Given the description of an element on the screen output the (x, y) to click on. 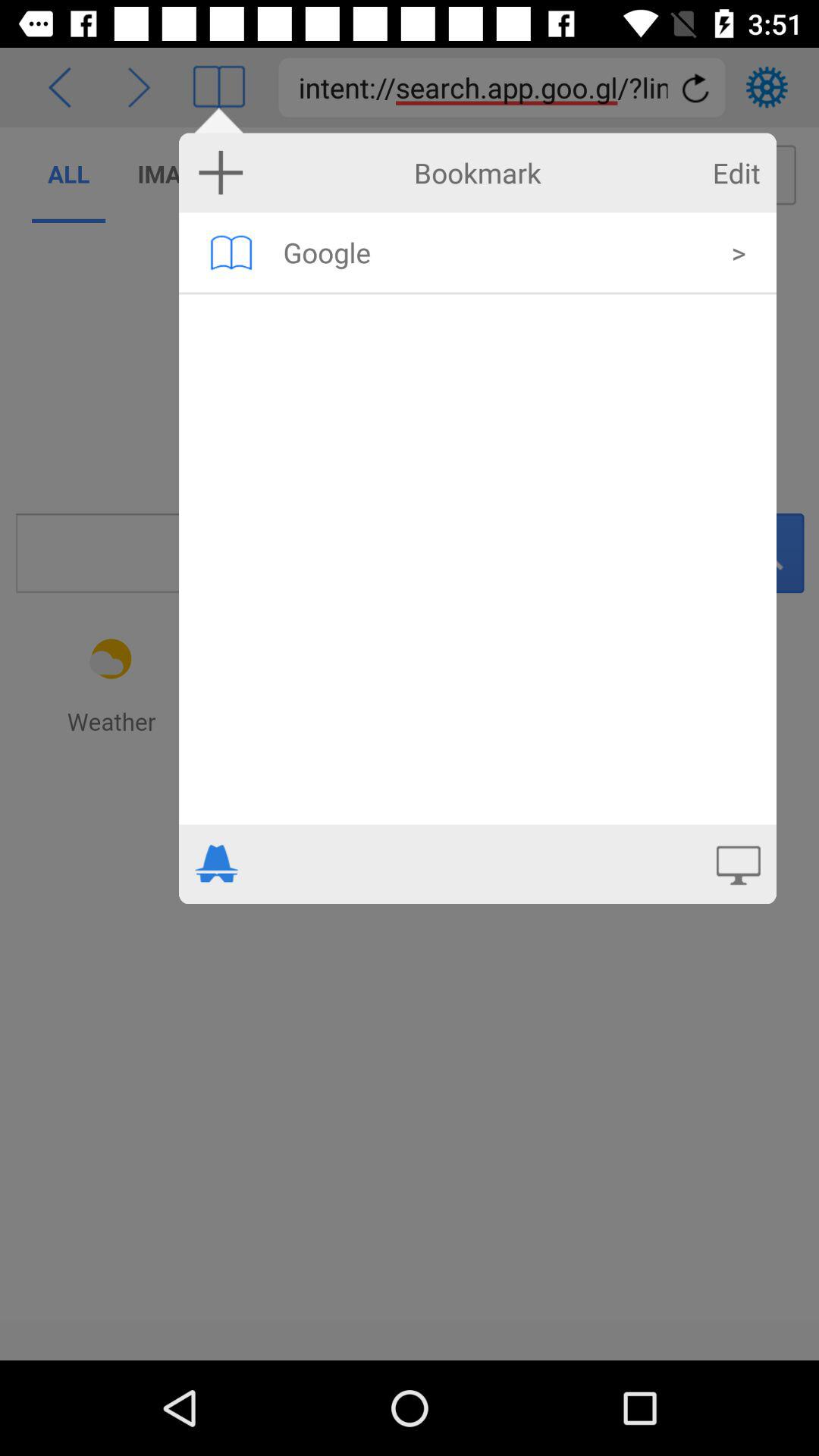
launch the item below the bookmark item (497, 252)
